Given the description of an element on the screen output the (x, y) to click on. 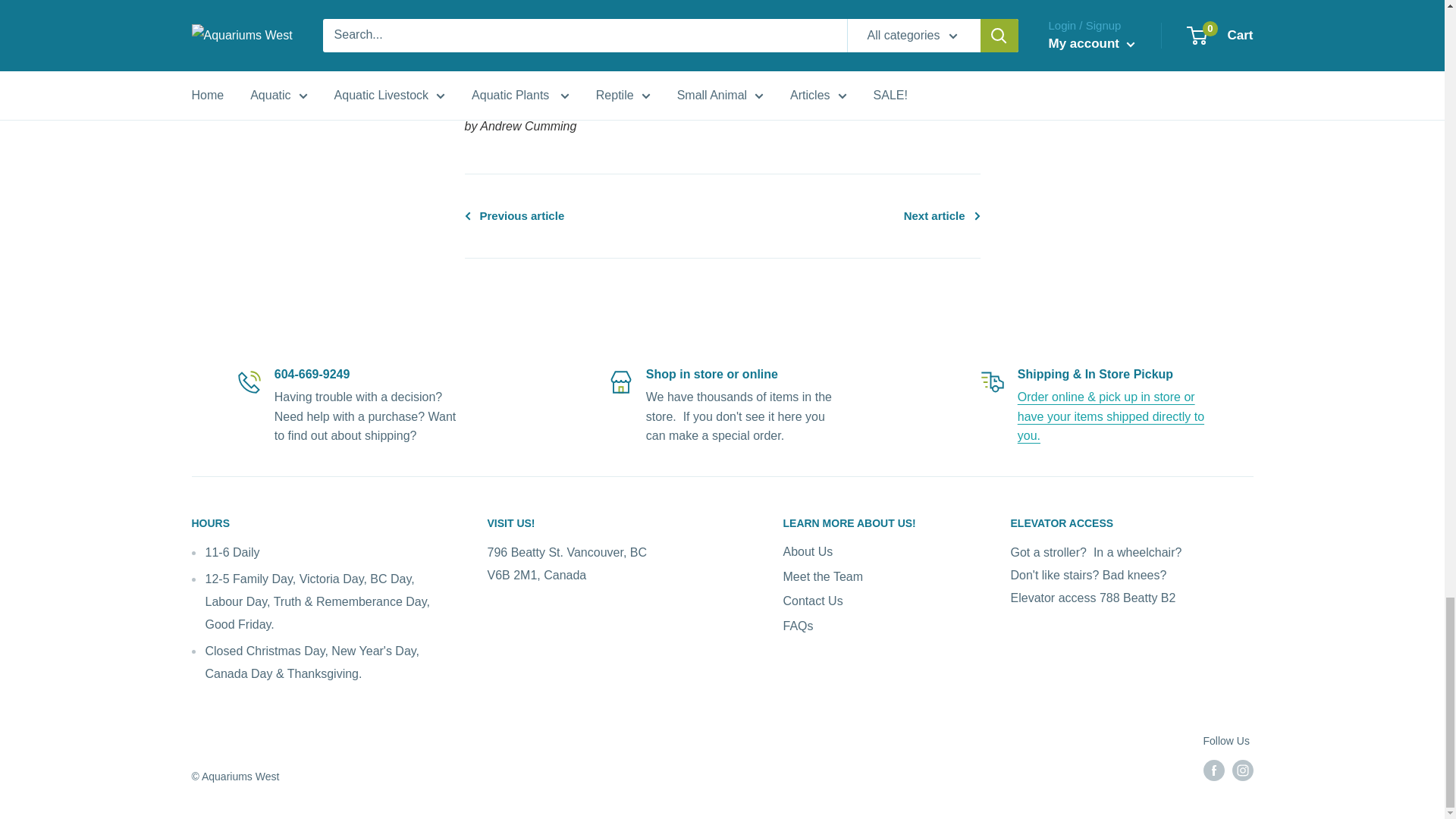
Shipping Policy (1110, 416)
